Given the description of an element on the screen output the (x, y) to click on. 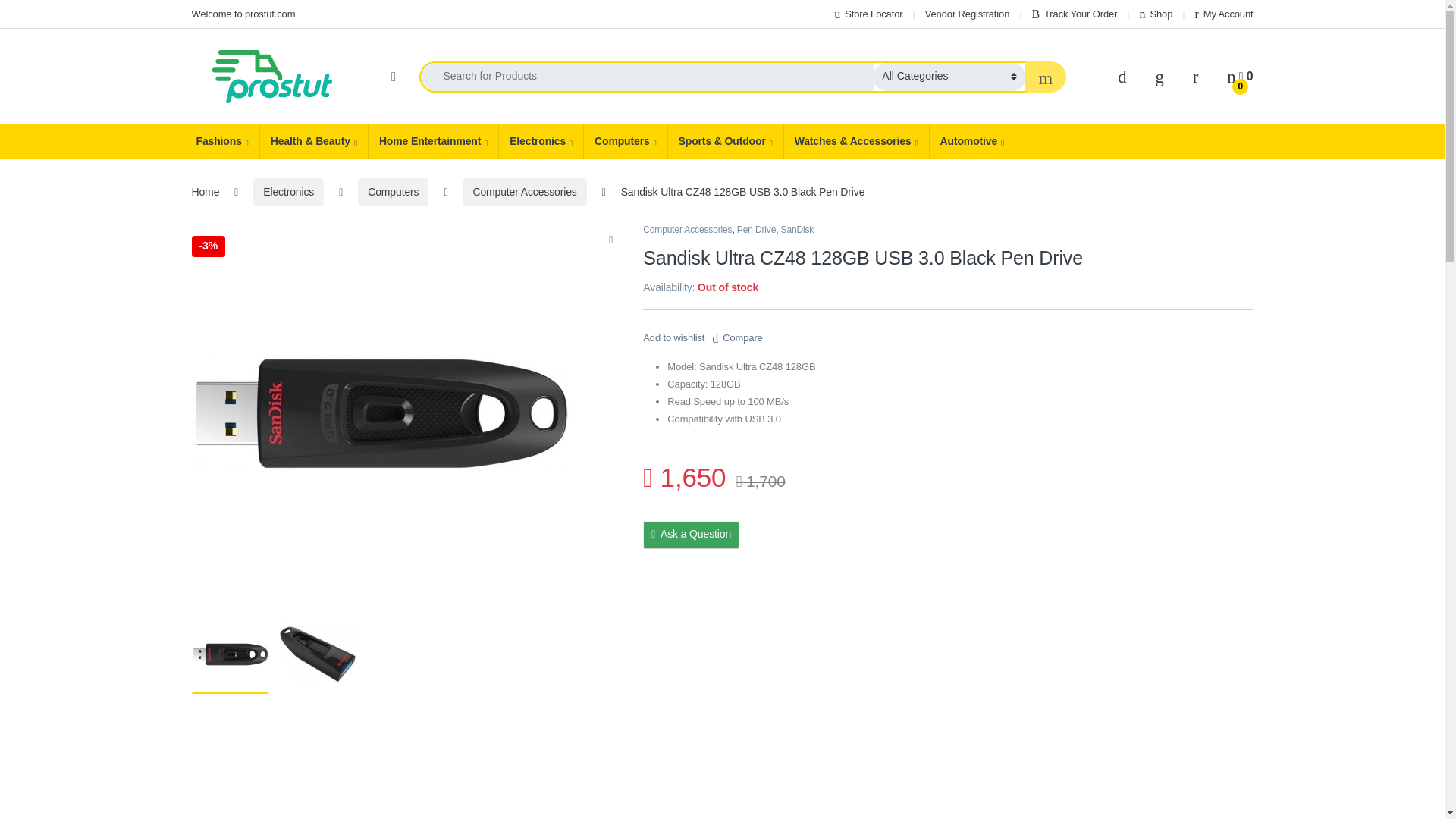
Vendor Registration (967, 13)
Welcome to prostut.com (242, 13)
My Account (1224, 13)
Shop (1156, 13)
Track Your Order (1073, 13)
My Account (1224, 13)
Store Locator (868, 13)
Welcome to prostut.com (242, 13)
Shop (1156, 13)
Store Locator (868, 13)
Track Your Order (1073, 13)
Vendor Registration (967, 13)
